Given the description of an element on the screen output the (x, y) to click on. 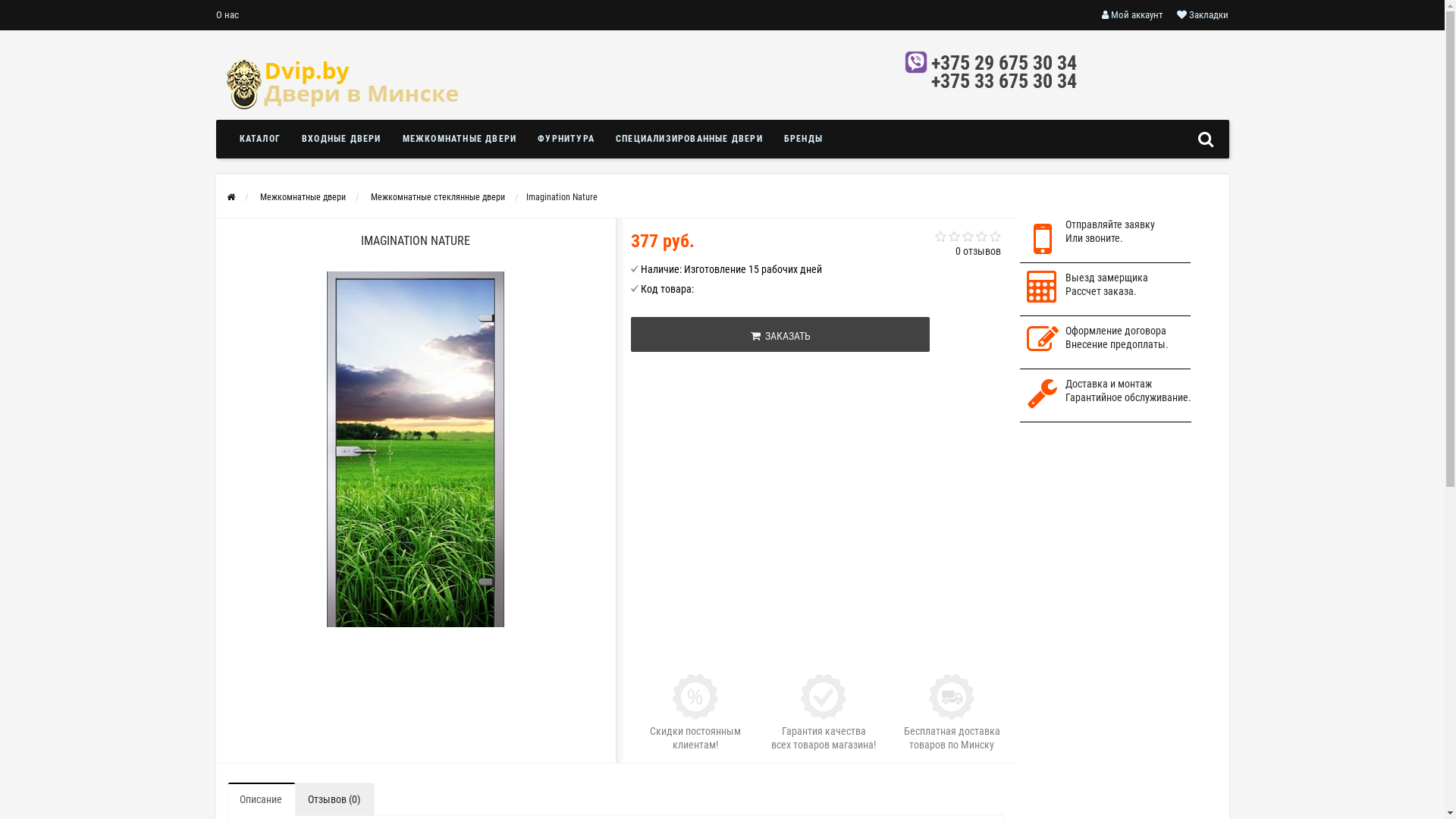
Viber Element type: hover (915, 61)
Imagination Nature Element type: hover (416, 449)
Imagination Nature Element type: hover (415, 449)
+375 33 675 30 34 Element type: text (1003, 80)
+375 29 675 30 34 Element type: text (1003, 62)
